Given the description of an element on the screen output the (x, y) to click on. 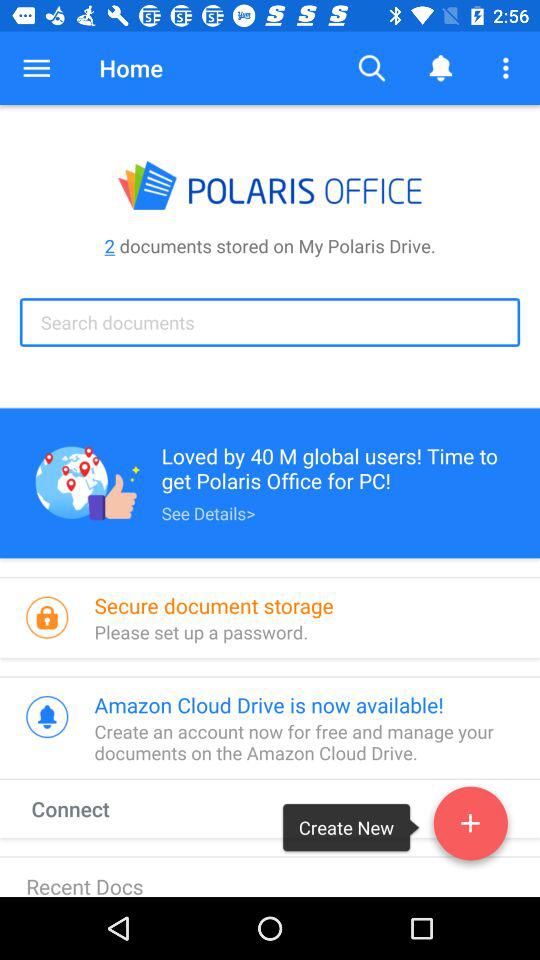
create a new document (470, 827)
